Given the description of an element on the screen output the (x, y) to click on. 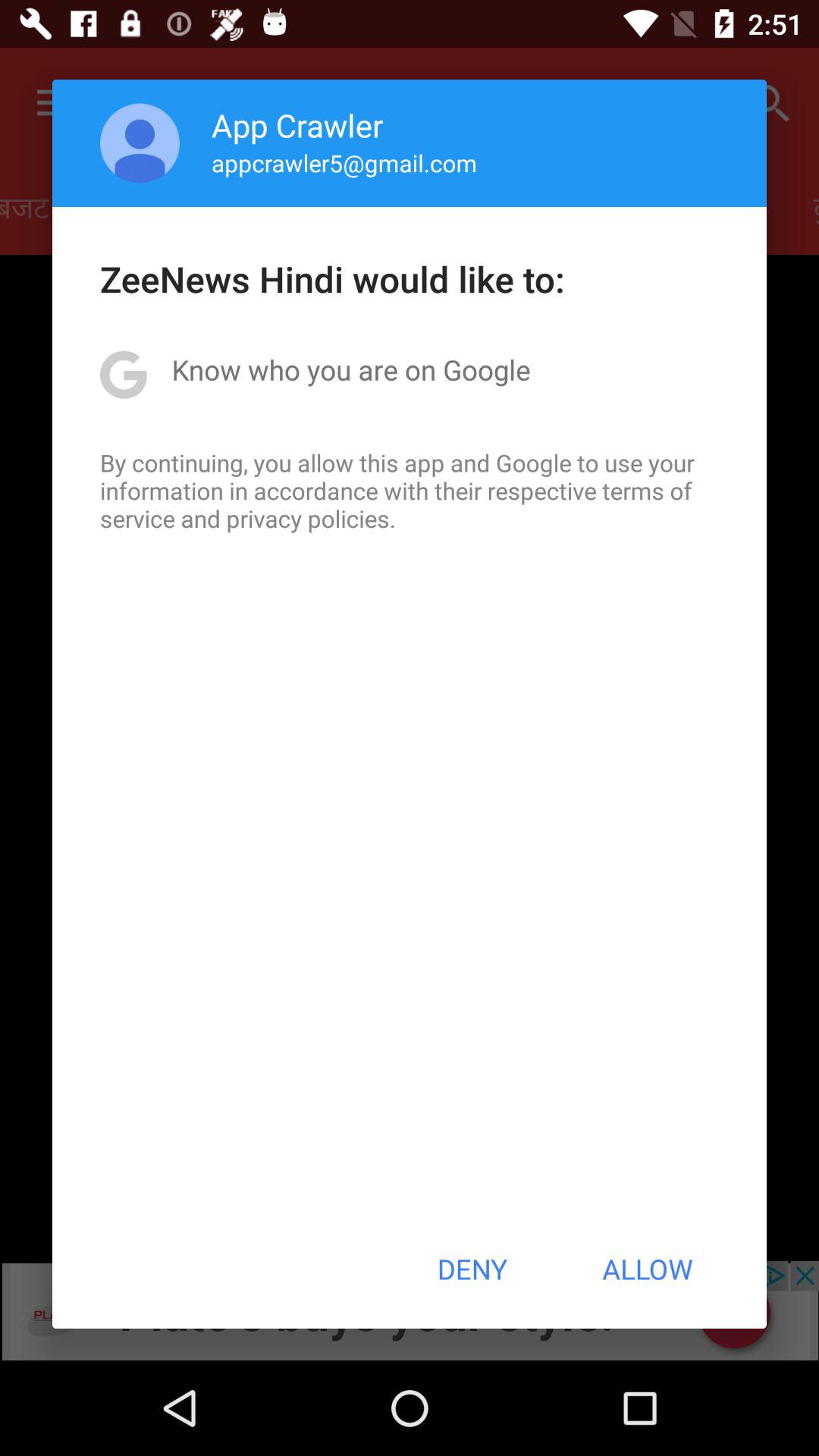
scroll to appcrawler5@gmail.com icon (344, 162)
